Given the description of an element on the screen output the (x, y) to click on. 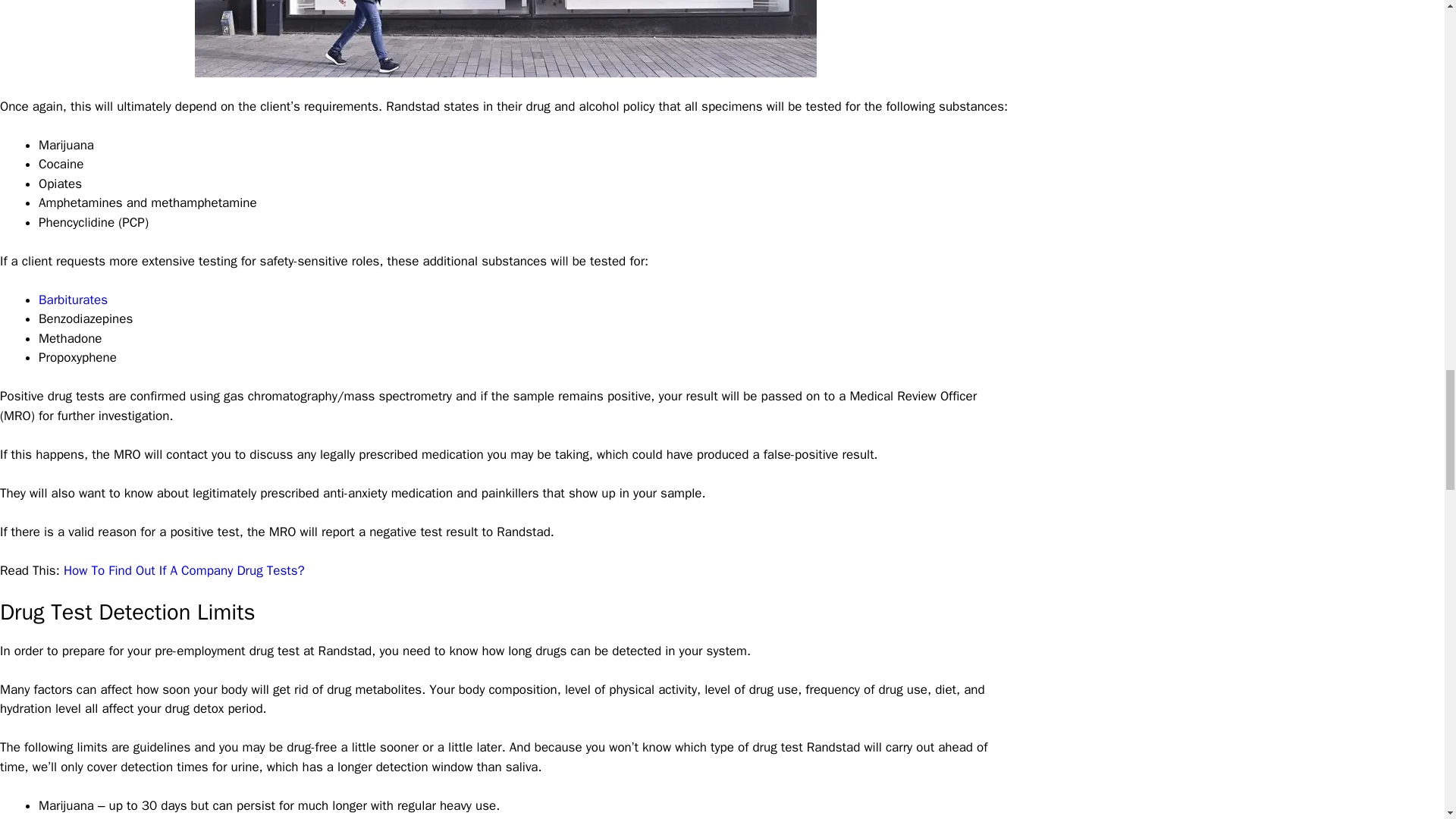
How To Find Out If A Company Drug Tests? (184, 570)
Which Drugs Does Randstad Test For? (505, 38)
Barbiturates (73, 299)
